Given the description of an element on the screen output the (x, y) to click on. 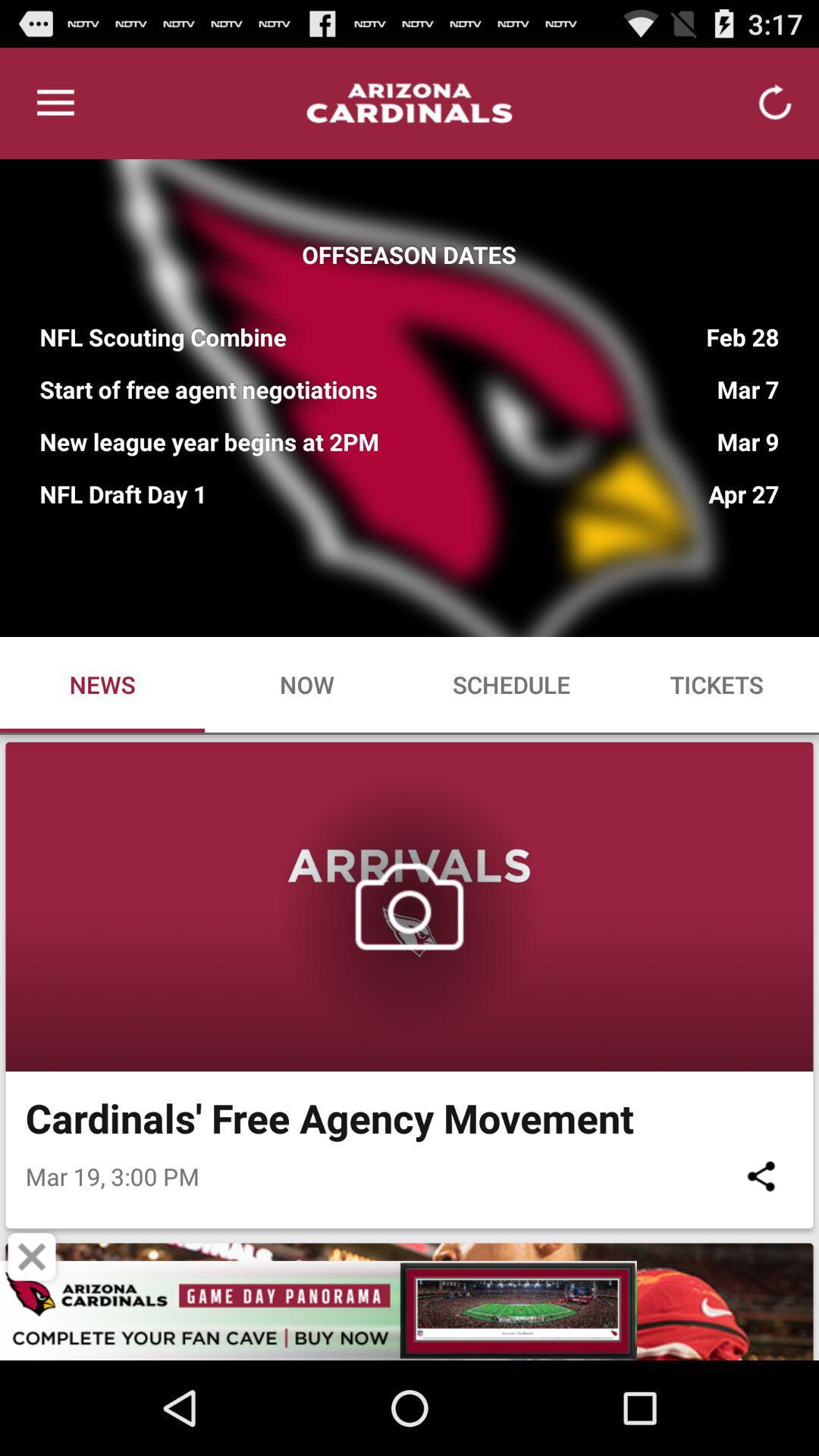
click on text which is beside now (511, 684)
